Given the description of an element on the screen output the (x, y) to click on. 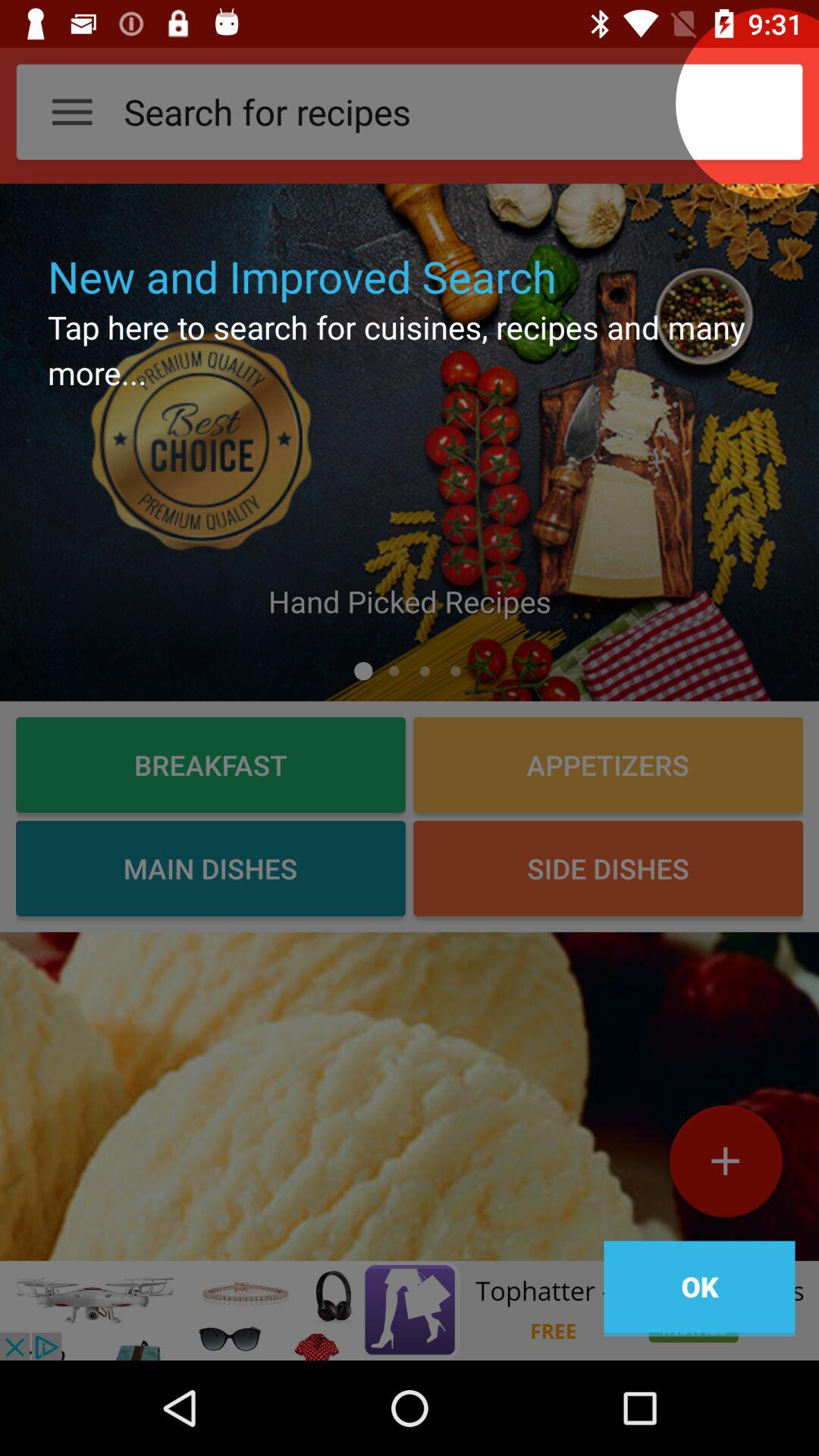
click the button breakfast on the web page (210, 764)
click the button on the top left corner on the web page (72, 111)
click the button on the right next to the button breakfast on the web page (608, 764)
select text field (425, 111)
click on main dishes (210, 868)
